Given the description of an element on the screen output the (x, y) to click on. 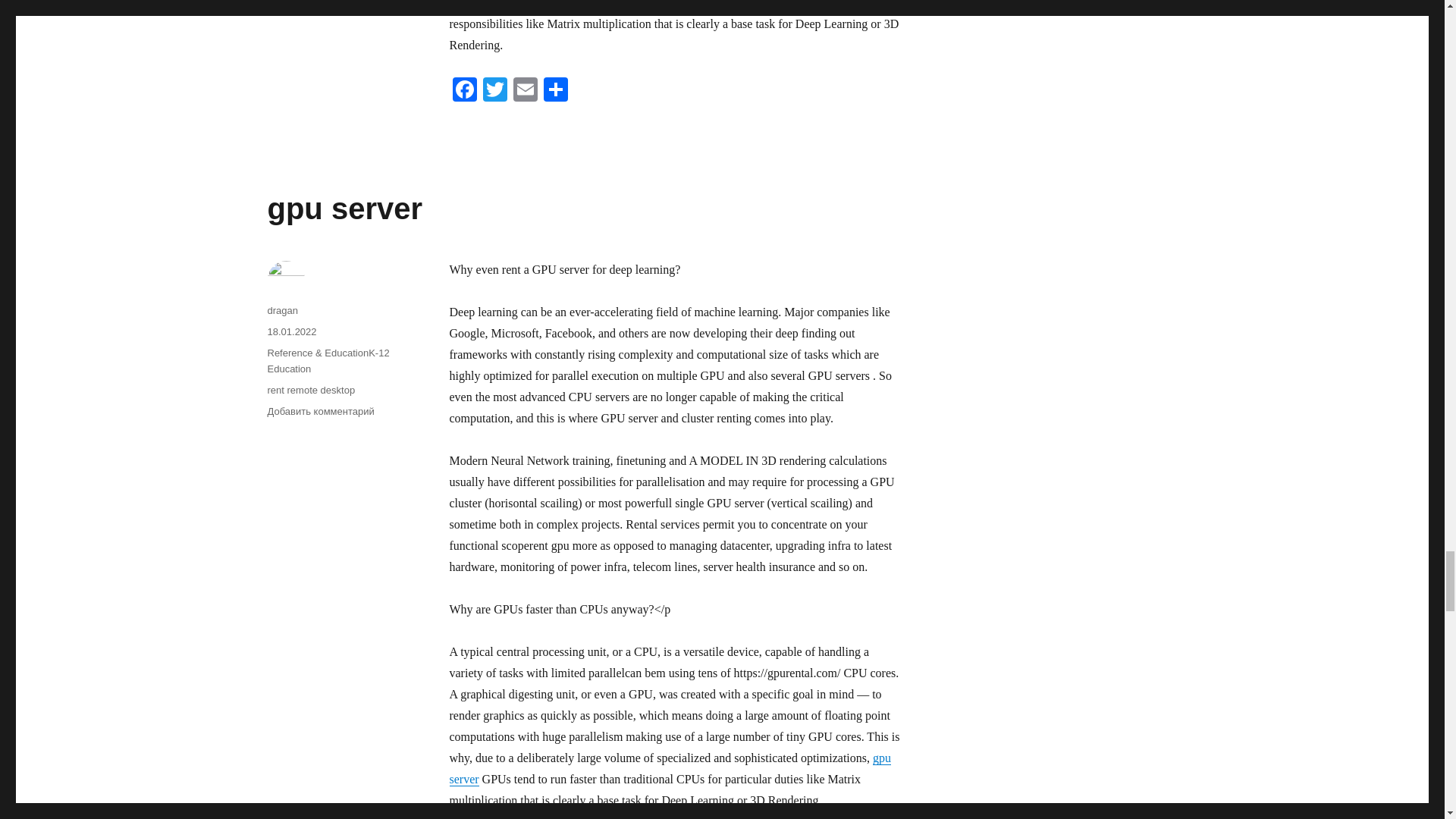
Facebook (463, 90)
